Given the description of an element on the screen output the (x, y) to click on. 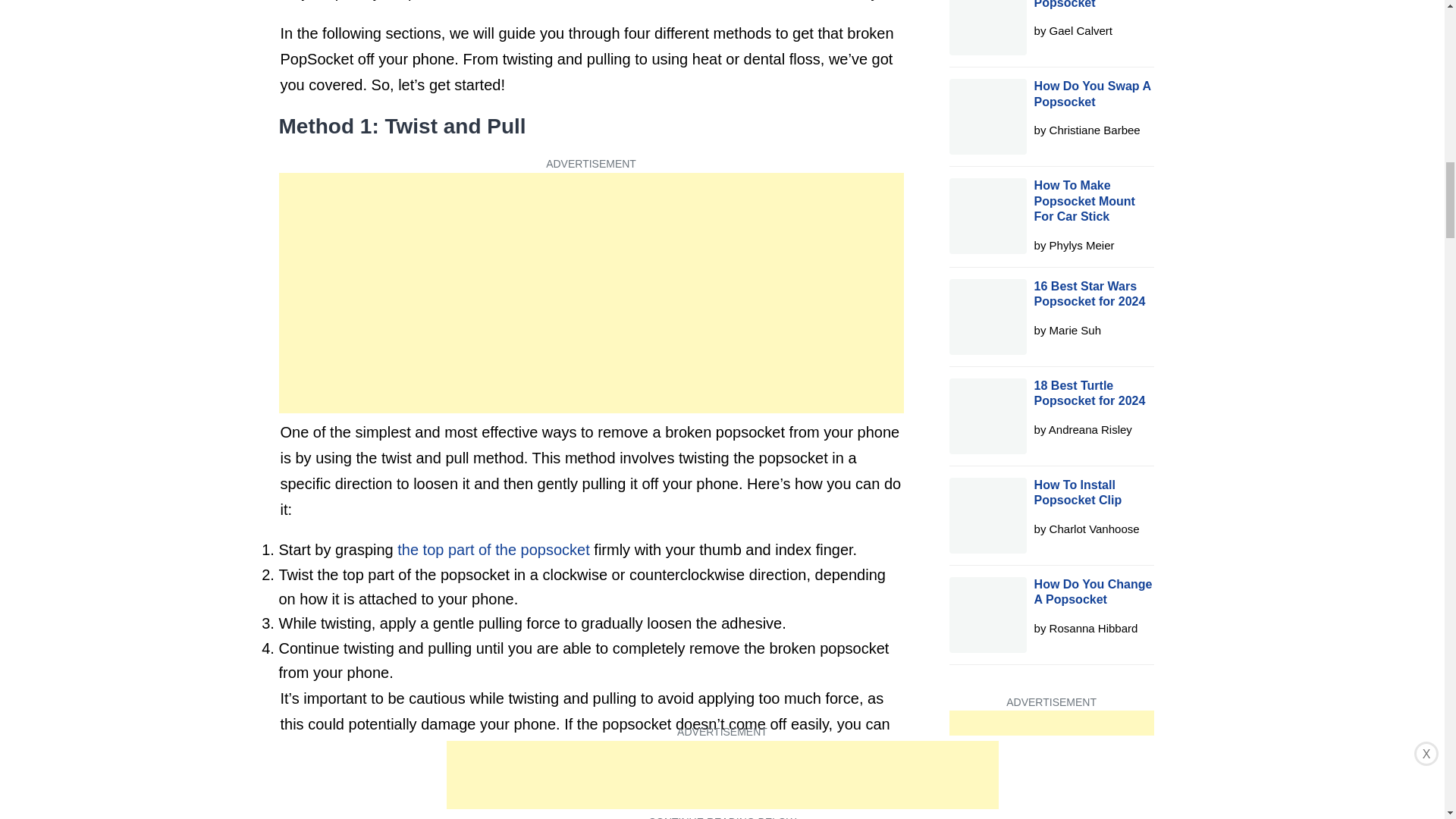
the top part of the popsocket (493, 549)
